Given the description of an element on the screen output the (x, y) to click on. 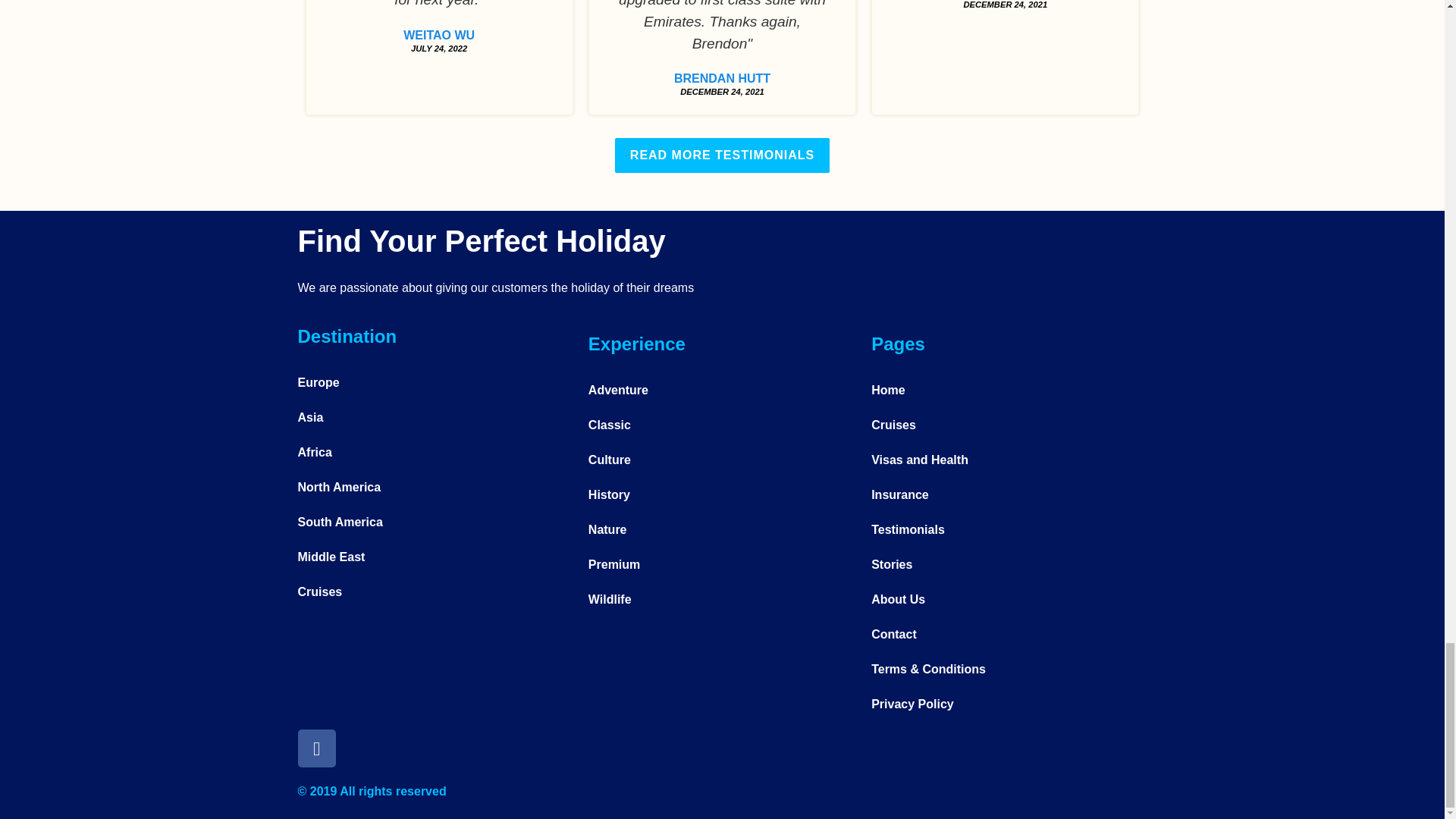
Asia (438, 417)
READ MORE TESTIMONIALS (721, 155)
Europe (438, 382)
